Given the description of an element on the screen output the (x, y) to click on. 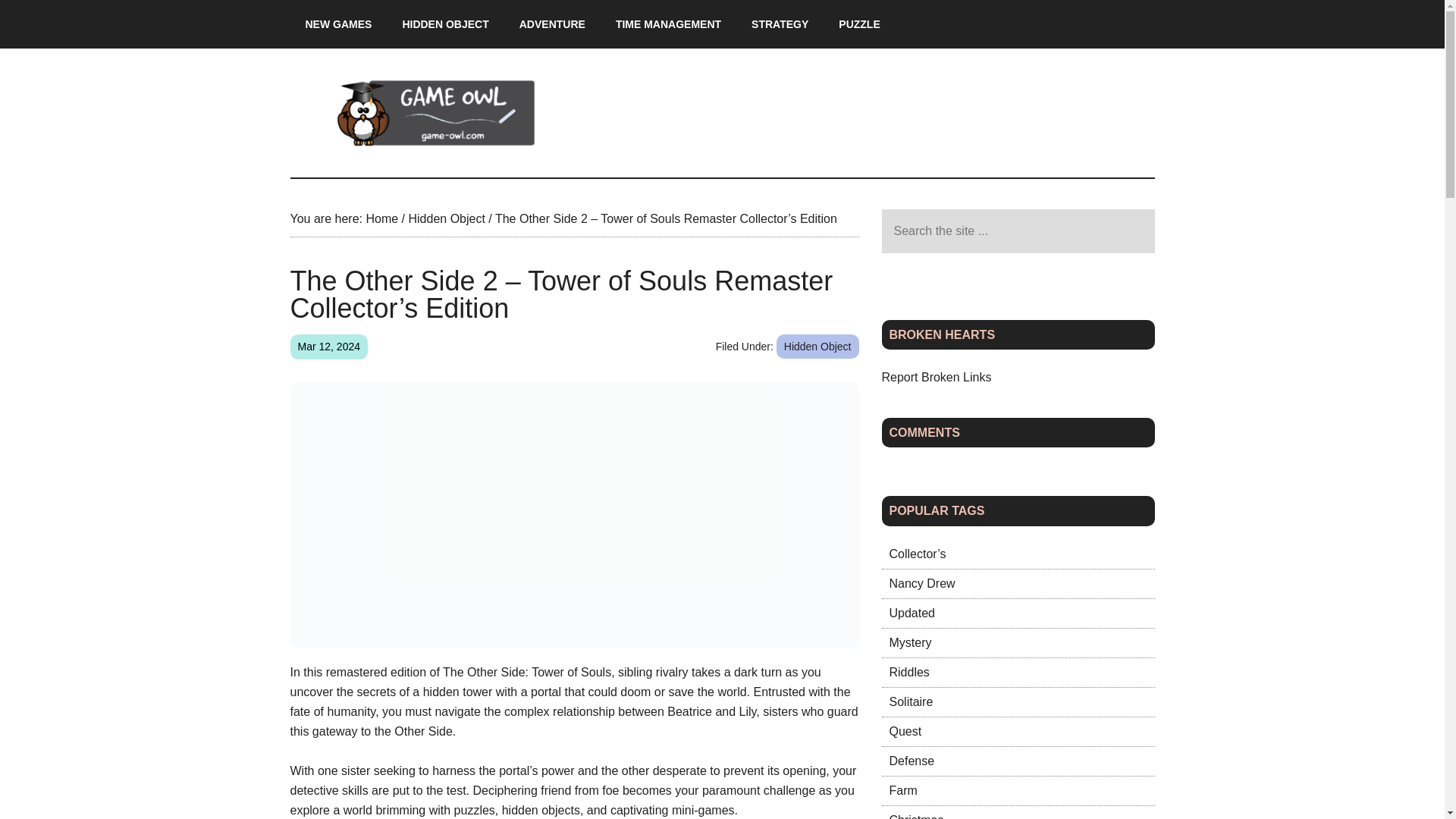
HIDDEN OBJECT (445, 24)
Nonograms (908, 672)
Report Broken Links (935, 377)
Home (381, 218)
Hidden Object Games (445, 24)
ADVENTURE (551, 24)
